Given the description of an element on the screen output the (x, y) to click on. 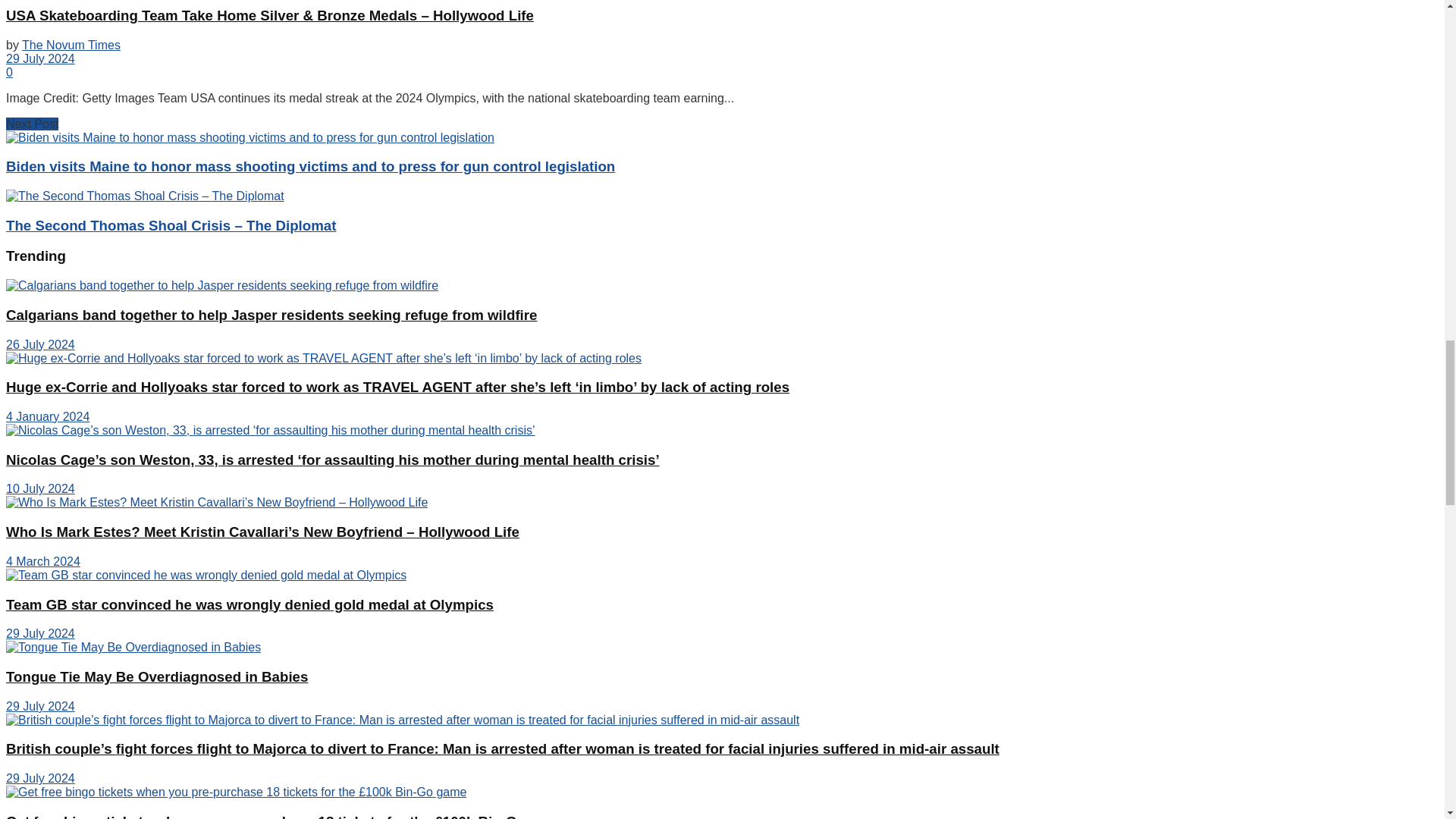
Tongue Tie May Be Overdiagnosed in Babies (132, 647)
